Given the description of an element on the screen output the (x, y) to click on. 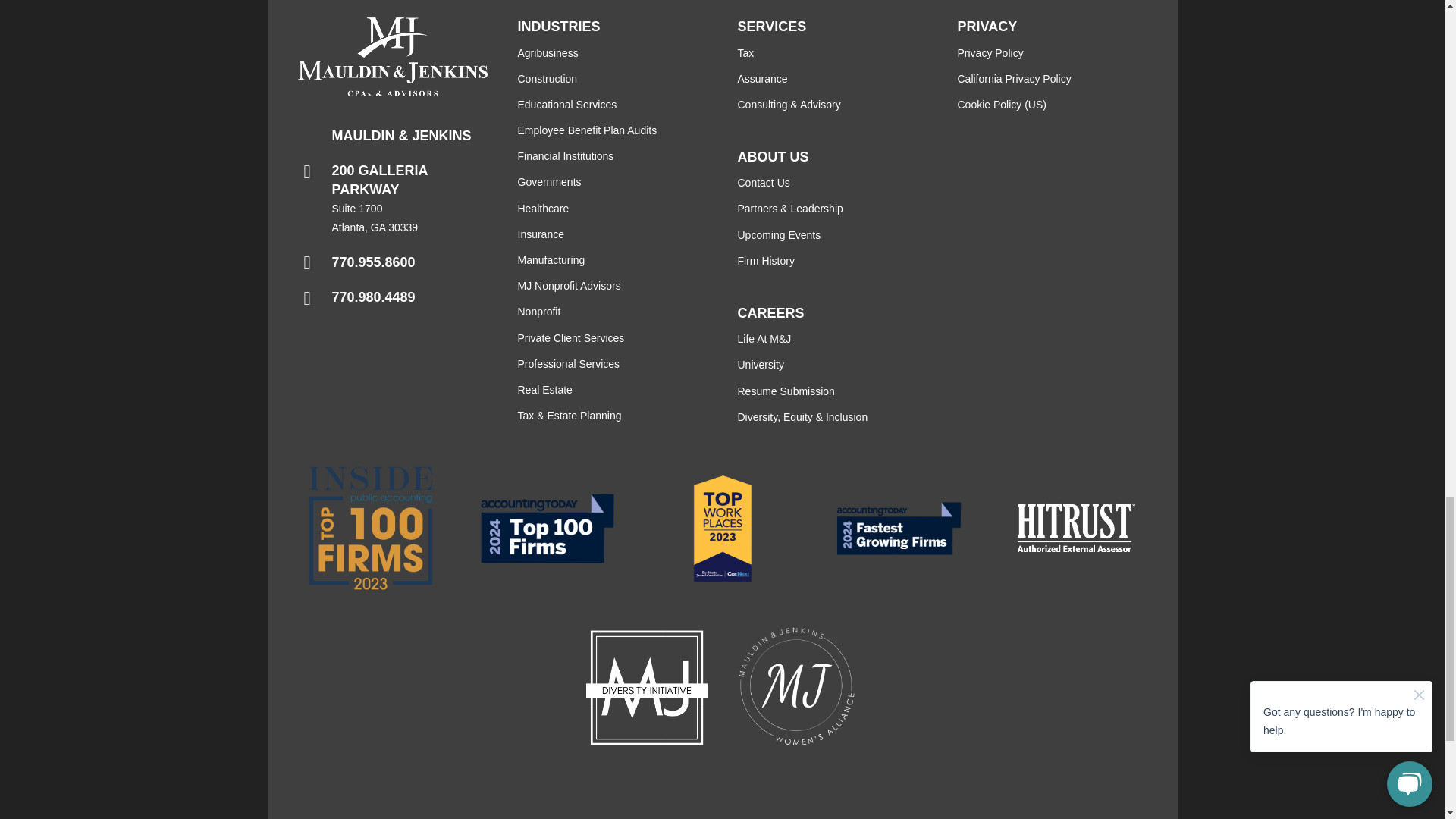
AT-Top 100 Firms-Logo-2024 (545, 529)
AT-Fastest Growing Firms-Logo-2024 (898, 527)
